Given the description of an element on the screen output the (x, y) to click on. 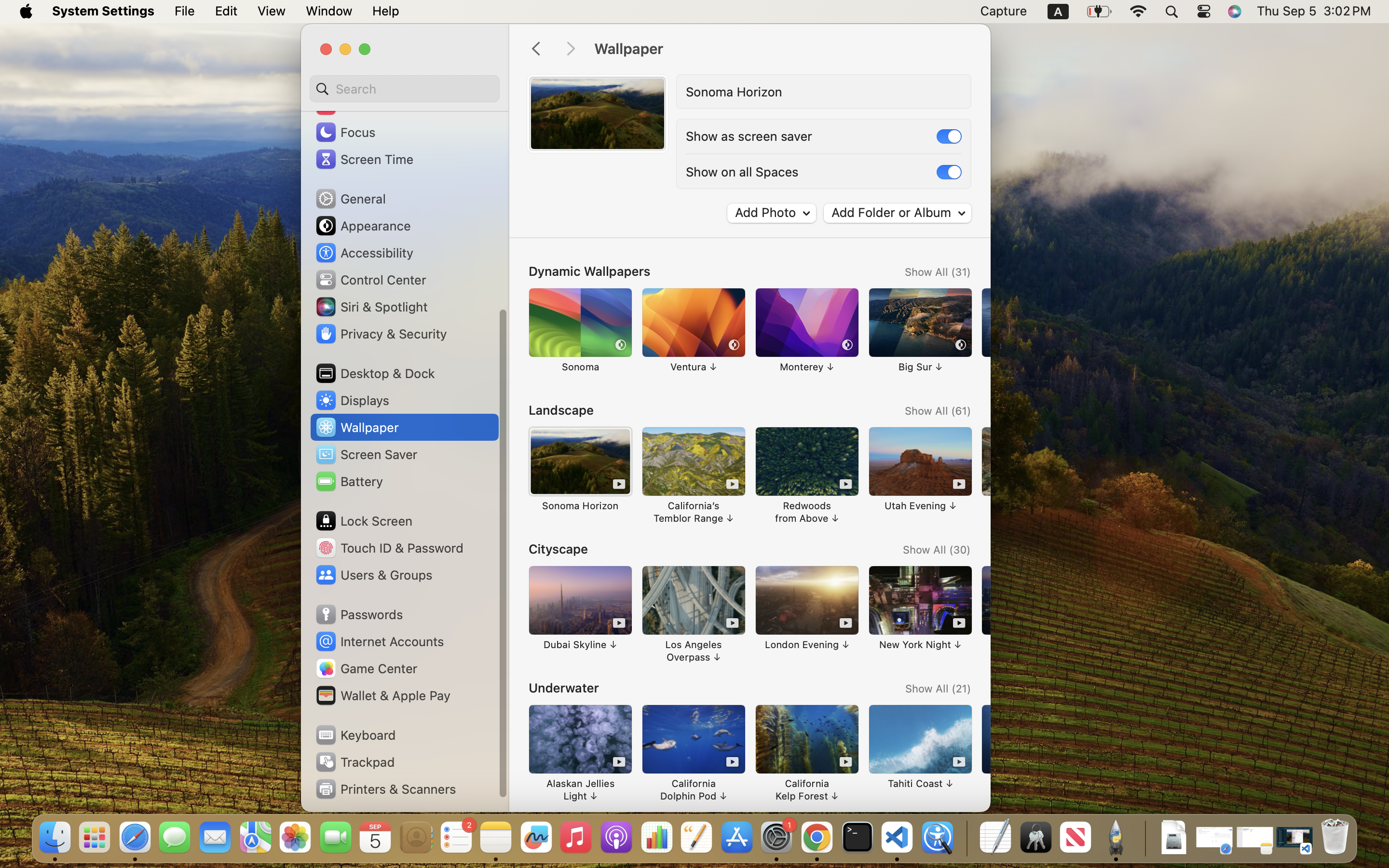
Touch ID & Password Element type: AXStaticText (388, 547)
Screen Time Element type: AXStaticText (363, 158)
Printers & Scanners Element type: AXStaticText (385, 788)
Siri & Spotlight Element type: AXStaticText (370, 306)
Privacy & Security Element type: AXStaticText (380, 333)
